Given the description of an element on the screen output the (x, y) to click on. 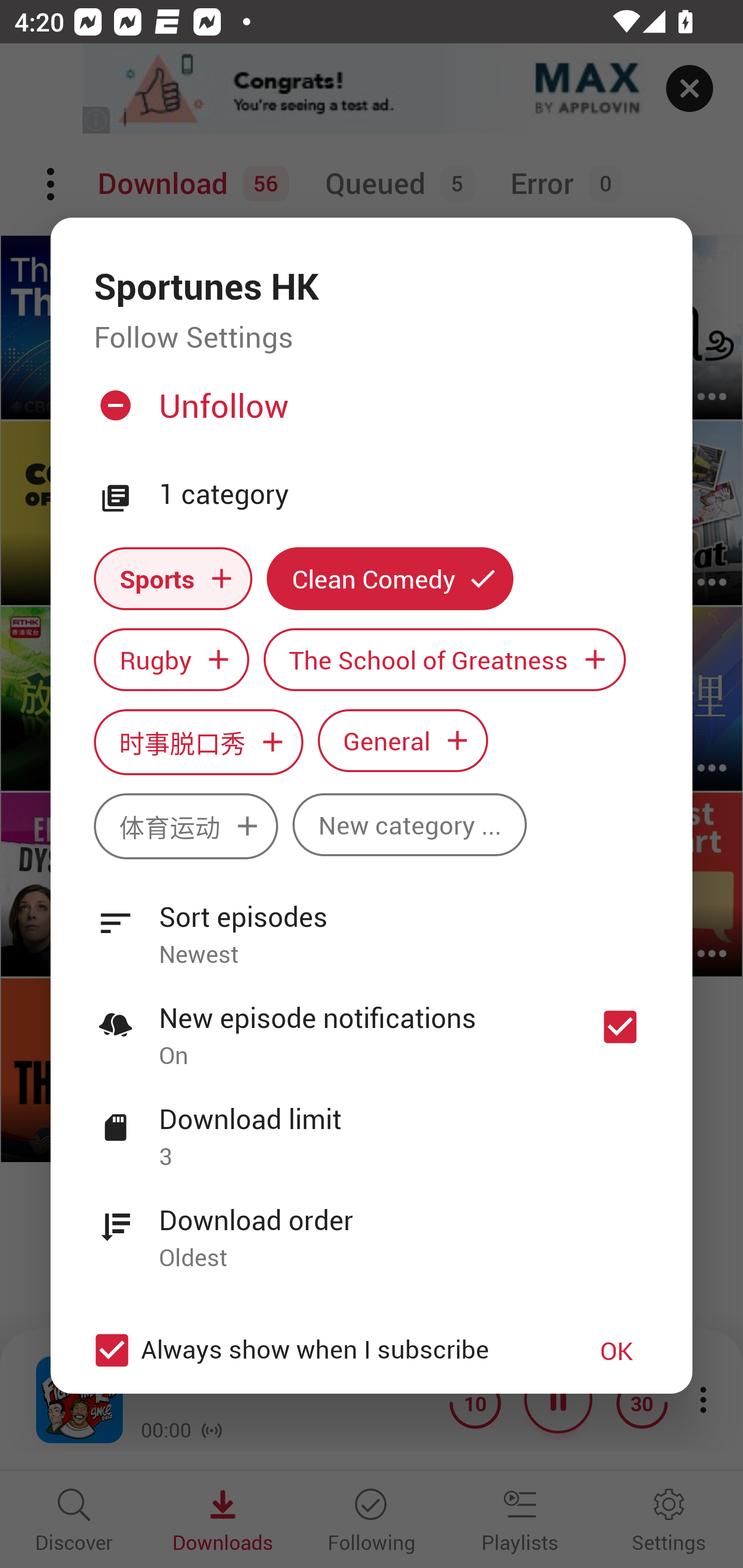
Unfollow (369, 413)
1 category (404, 494)
Sports (172, 578)
Clean Comedy (389, 578)
Rugby (170, 659)
The School of Greatness (444, 659)
时事脱口秀 (198, 741)
General (403, 739)
体育运动 (185, 826)
New category ... (409, 824)
Sort episodes Newest (371, 924)
New episode notifications (620, 1026)
Download limit 3 (371, 1126)
Download order Oldest (371, 1227)
OK (616, 1350)
Always show when I subscribe (320, 1350)
